Given the description of an element on the screen output the (x, y) to click on. 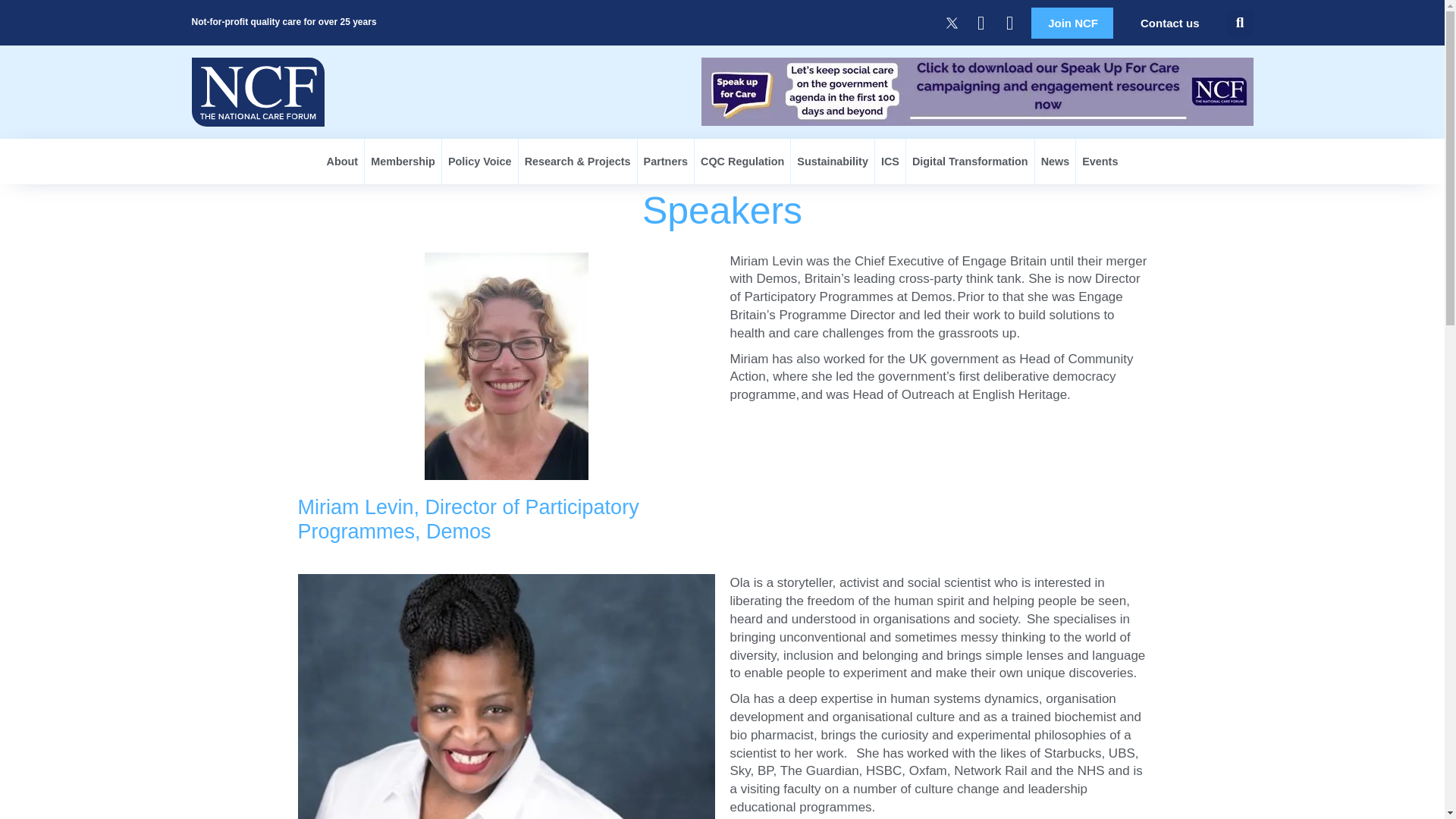
Partners (665, 161)
Membership (403, 161)
Join NCF (1071, 22)
Sustainability (832, 161)
About (342, 161)
Policy Voice (480, 161)
Contact us (1169, 22)
CQC Regulation (742, 161)
